Given the description of an element on the screen output the (x, y) to click on. 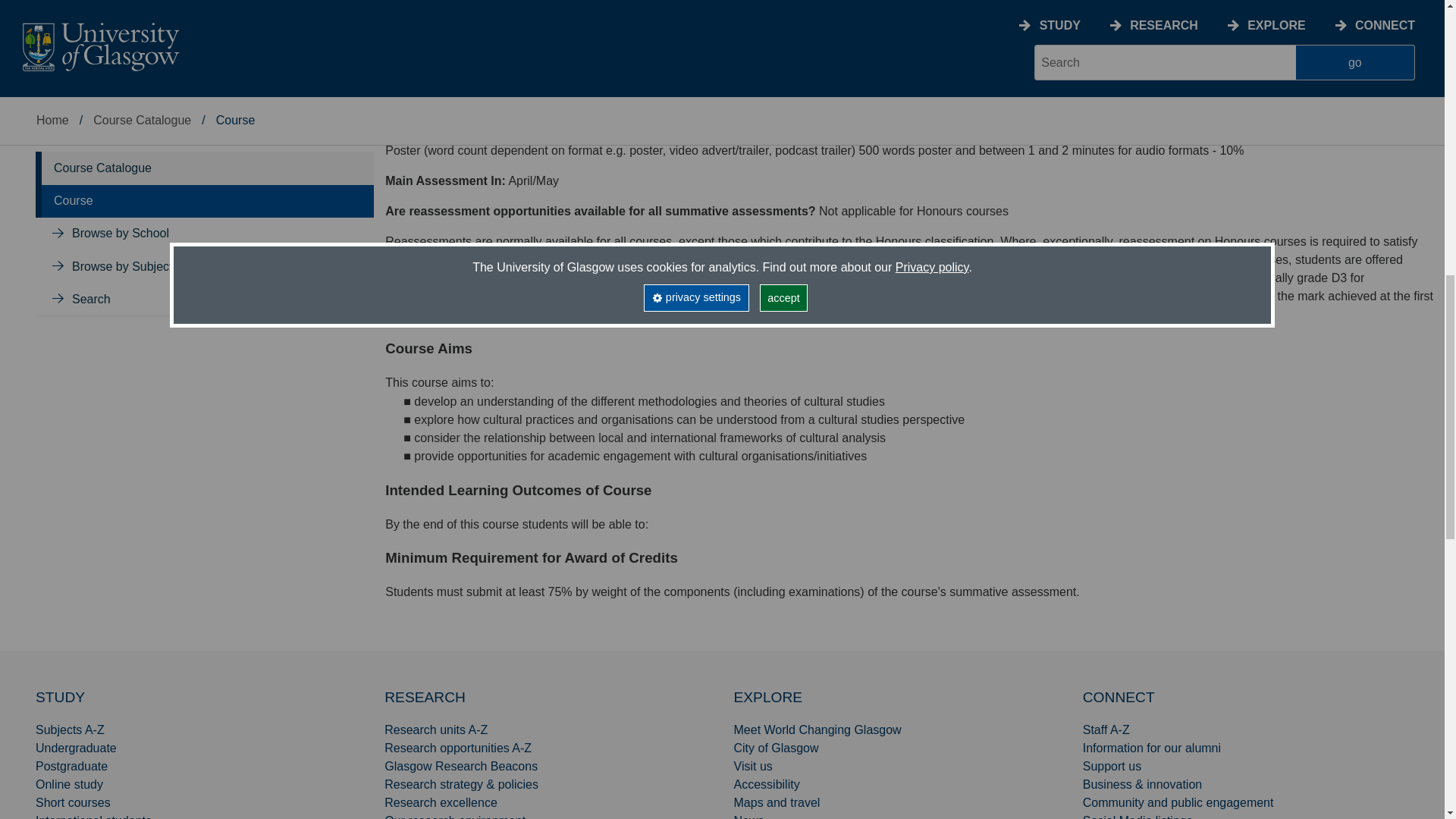
International students (92, 816)
Undergraduate (75, 748)
Short courses (72, 802)
STUDY (59, 697)
Online study (68, 784)
Subjects A-Z (69, 729)
Postgraduate (70, 766)
